Given the description of an element on the screen output the (x, y) to click on. 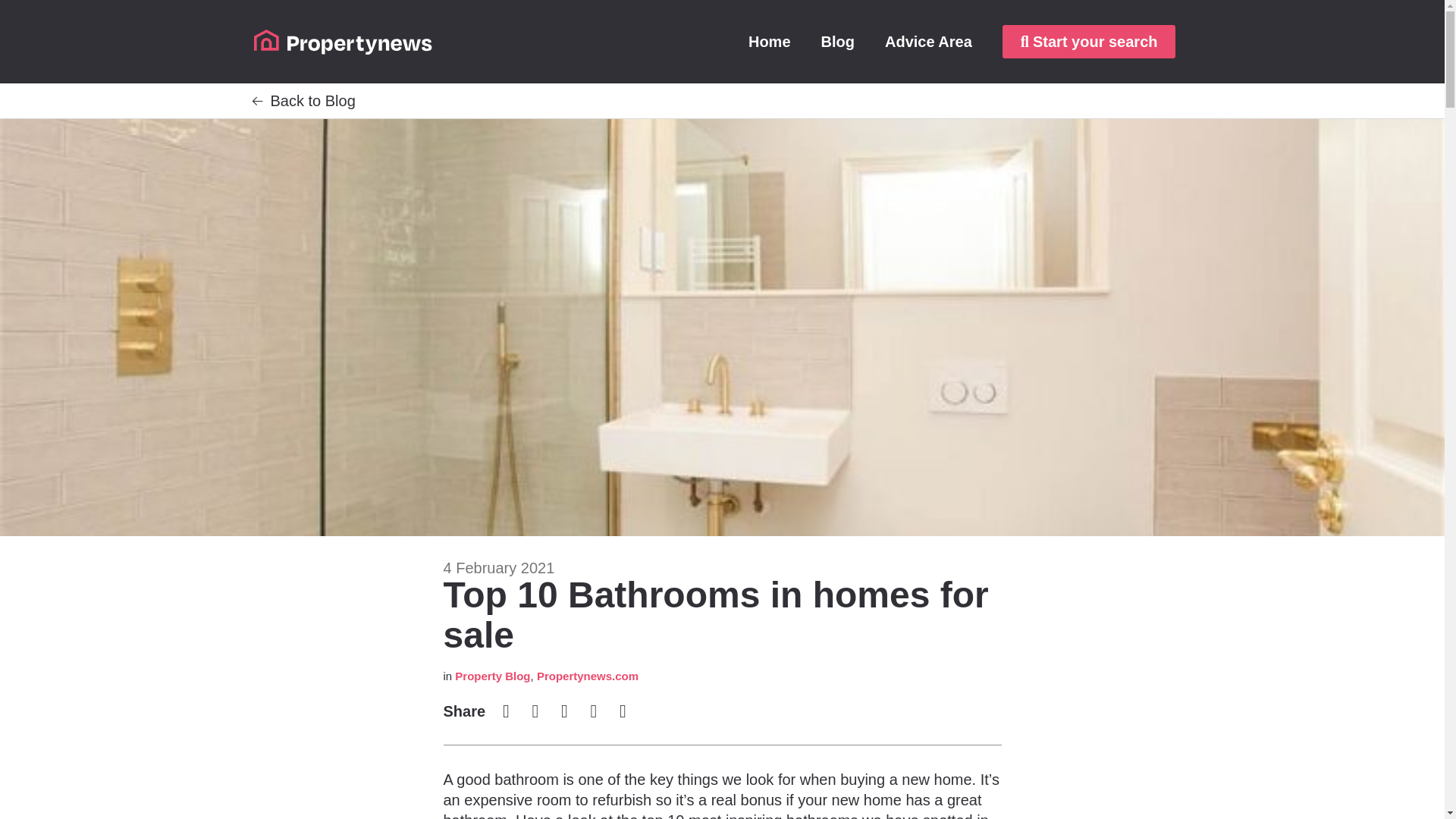
Property Blog (491, 675)
Back to Blog (312, 100)
Home (769, 41)
Blog (837, 41)
Advice Area (928, 41)
Propertynews.com (588, 675)
Start your search (1089, 41)
